Given the description of an element on the screen output the (x, y) to click on. 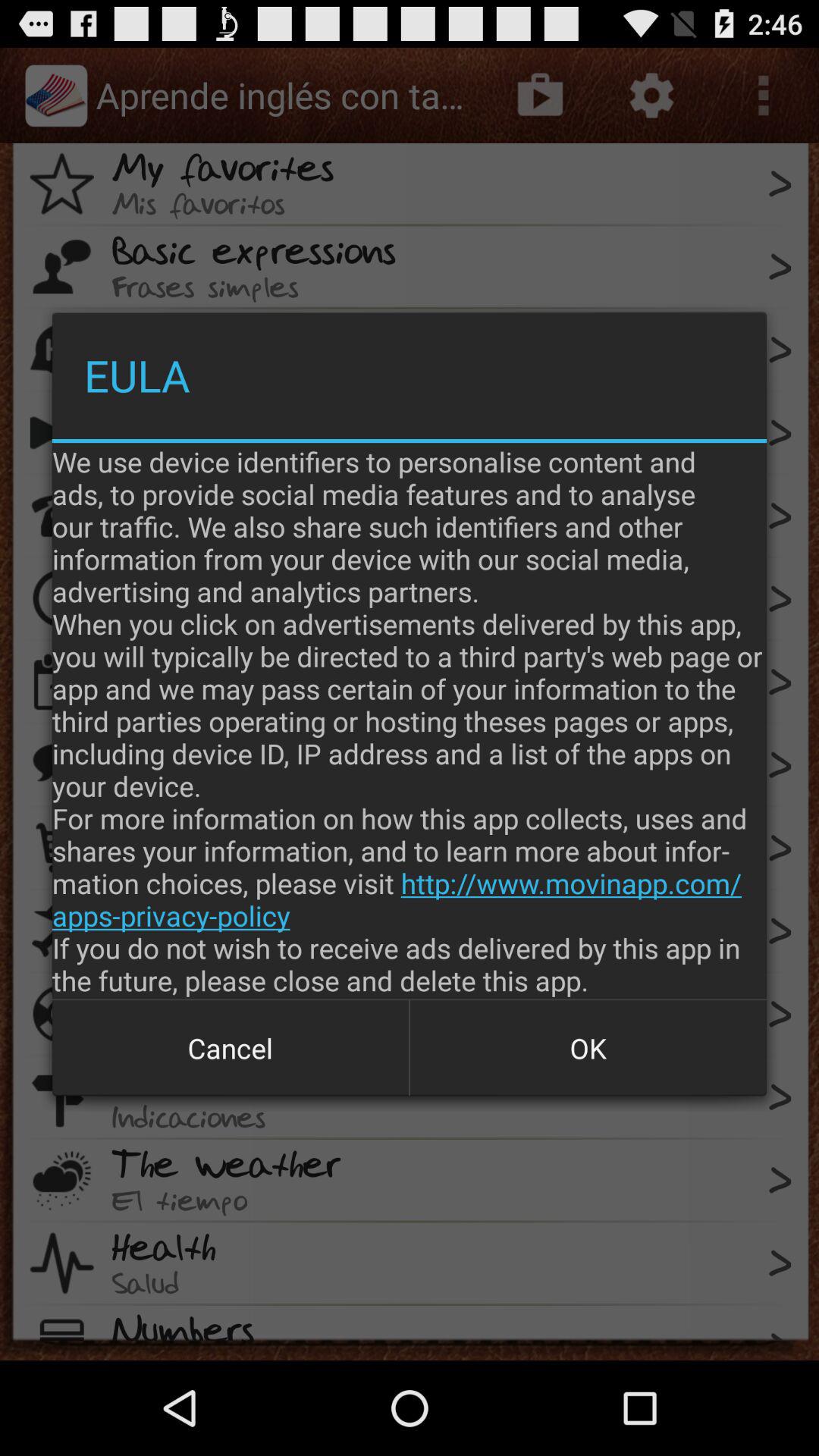
click item below we use device (588, 1047)
